Given the description of an element on the screen output the (x, y) to click on. 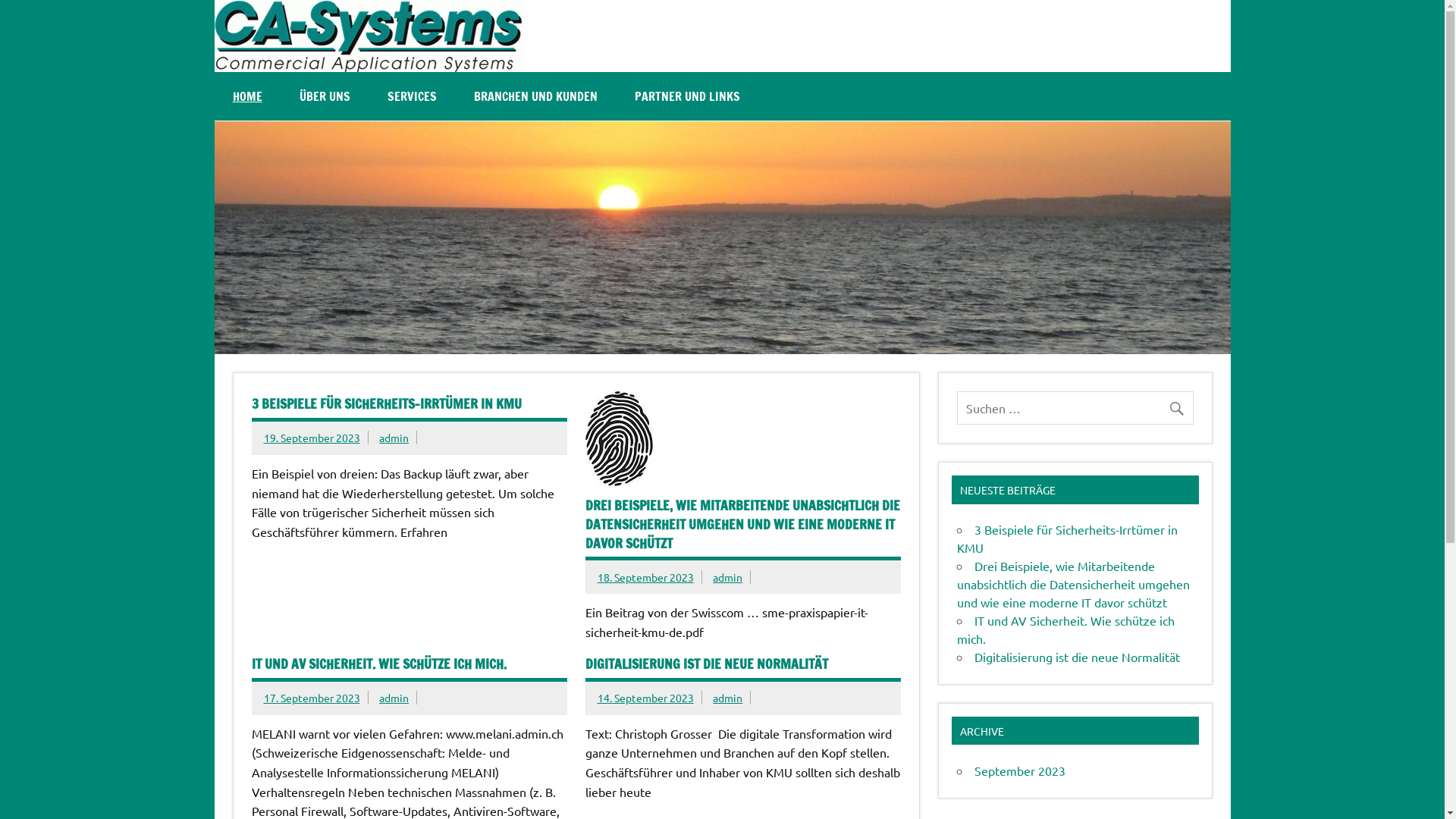
17. September 2023 Element type: text (311, 697)
SERVICES Element type: text (411, 96)
19. September 2023 Element type: text (311, 437)
admin Element type: text (727, 576)
18. September 2023 Element type: text (645, 576)
PARTNER UND LINKS Element type: text (686, 96)
BRANCHEN UND KUNDEN Element type: text (535, 96)
HOME Element type: text (246, 96)
admin Element type: text (727, 697)
14. September 2023 Element type: text (645, 697)
September 2023 Element type: text (1019, 770)
admin Element type: text (393, 437)
admin Element type: text (393, 697)
